Given the description of an element on the screen output the (x, y) to click on. 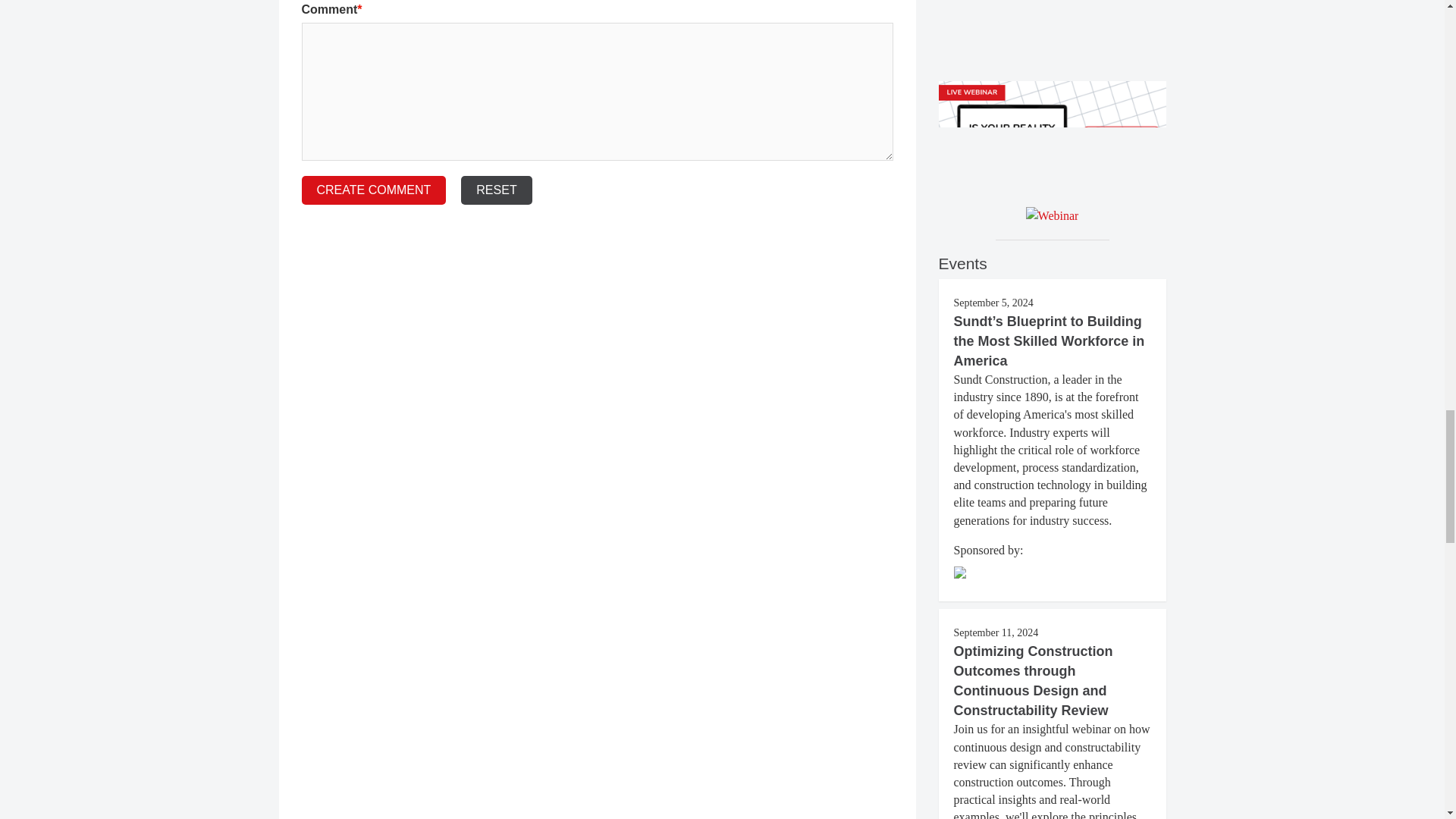
Reset (496, 190)
Create Comment (373, 190)
